Given the description of an element on the screen output the (x, y) to click on. 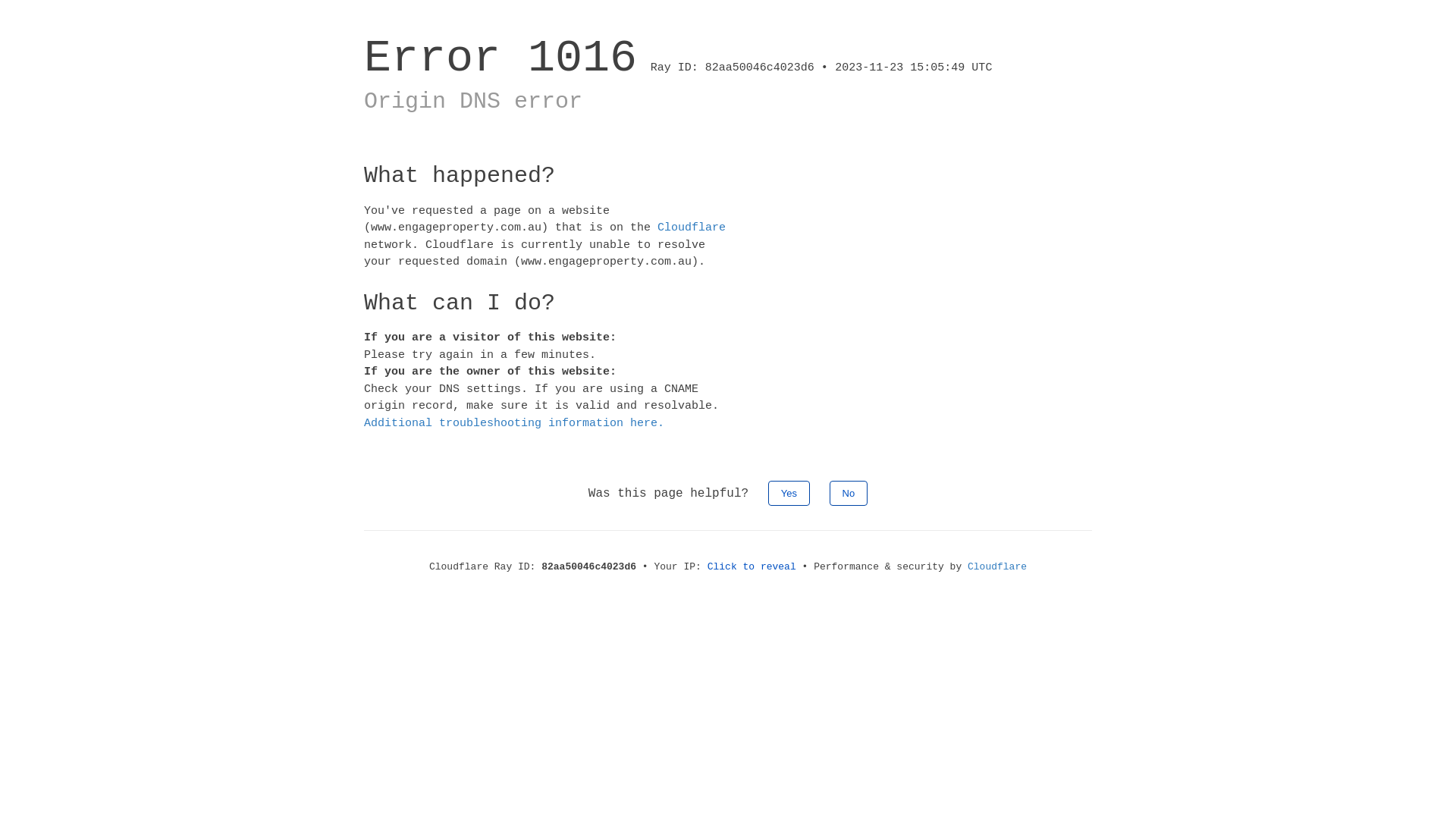
Cloudflare Element type: text (996, 566)
No Element type: text (848, 492)
Additional troubleshooting information here. Element type: text (514, 423)
Click to reveal Element type: text (751, 566)
Cloudflare Element type: text (691, 227)
Yes Element type: text (788, 492)
